Given the description of an element on the screen output the (x, y) to click on. 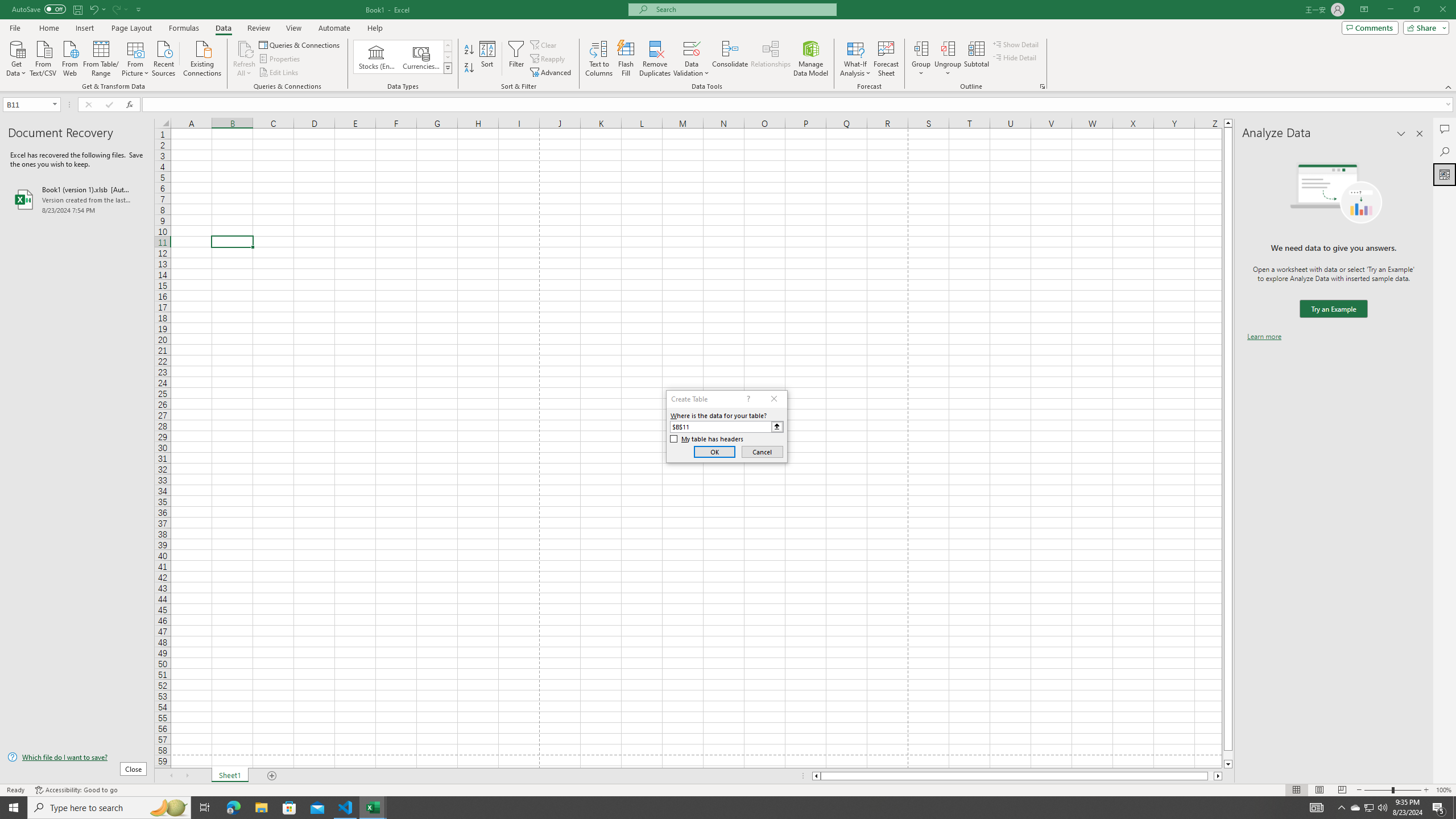
Flash Fill (625, 58)
Properties (280, 58)
Sort A to Z (469, 49)
Forecast Sheet (885, 58)
